Given the description of an element on the screen output the (x, y) to click on. 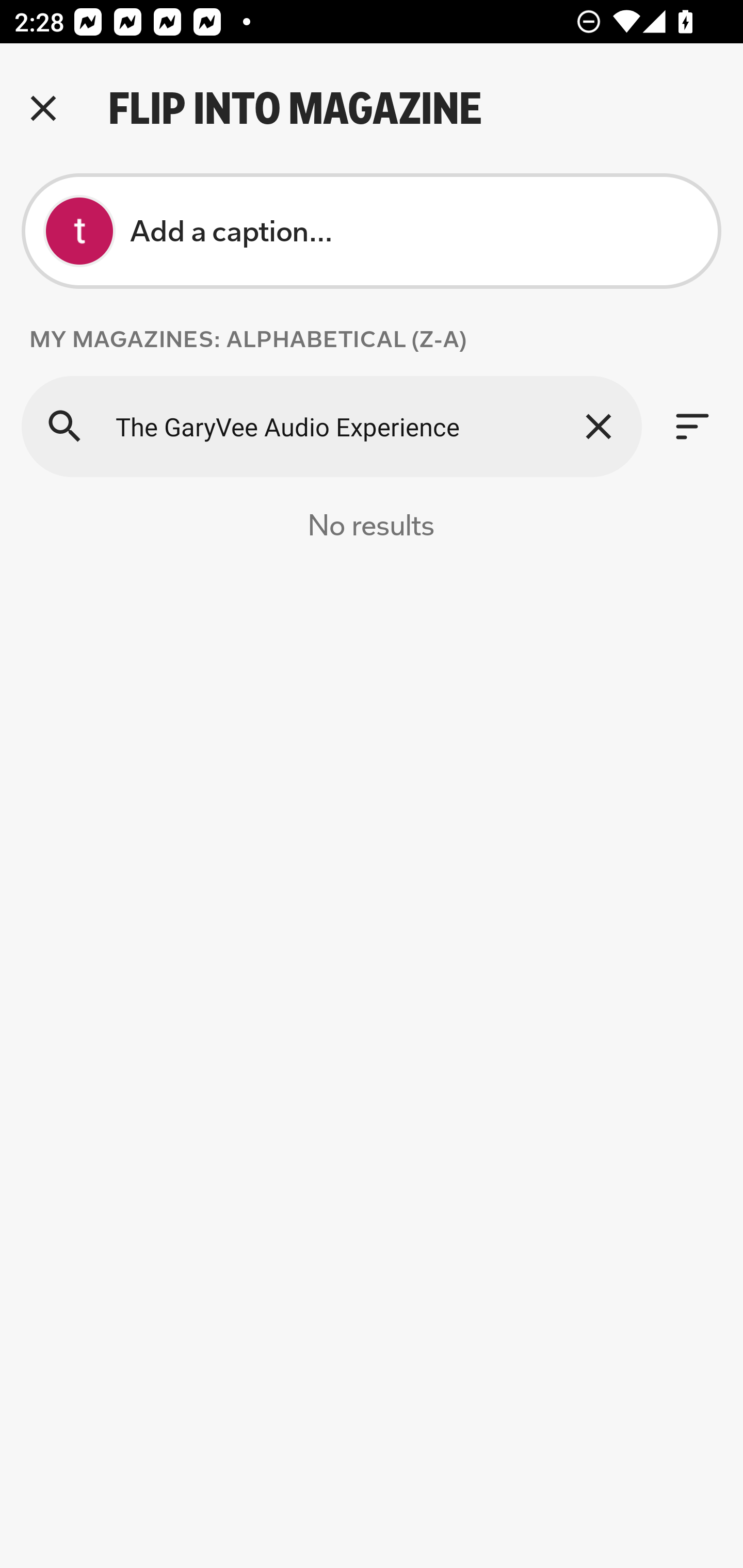
test appium Add a caption… (371, 231)
The GaryVee Audio Experience Search (331, 426)
